Given the description of an element on the screen output the (x, y) to click on. 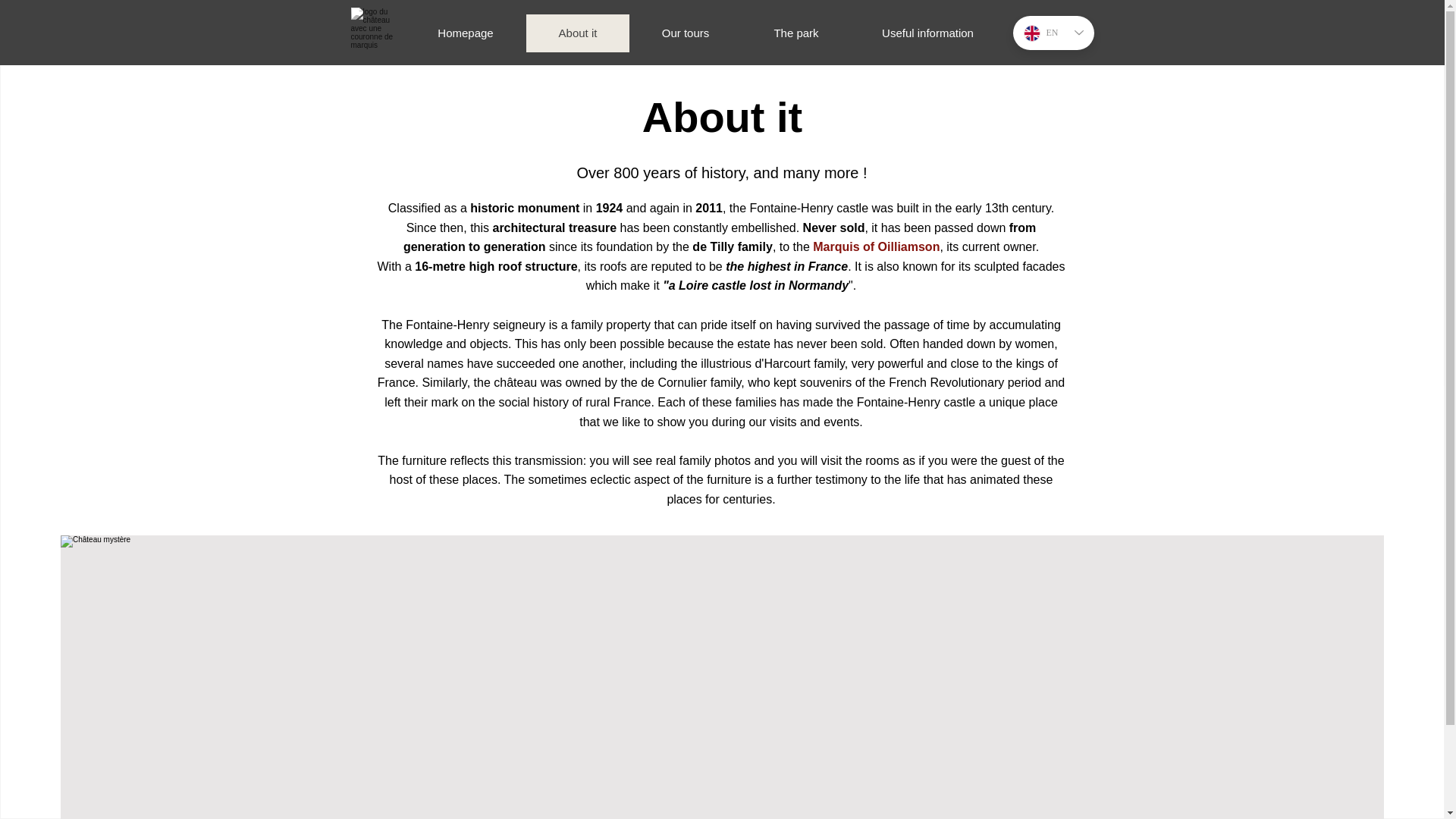
Marquis of Oilliamson (875, 246)
About it (576, 33)
Homepage (464, 33)
Useful information (927, 33)
The park (795, 33)
Our tours (684, 33)
